Given the description of an element on the screen output the (x, y) to click on. 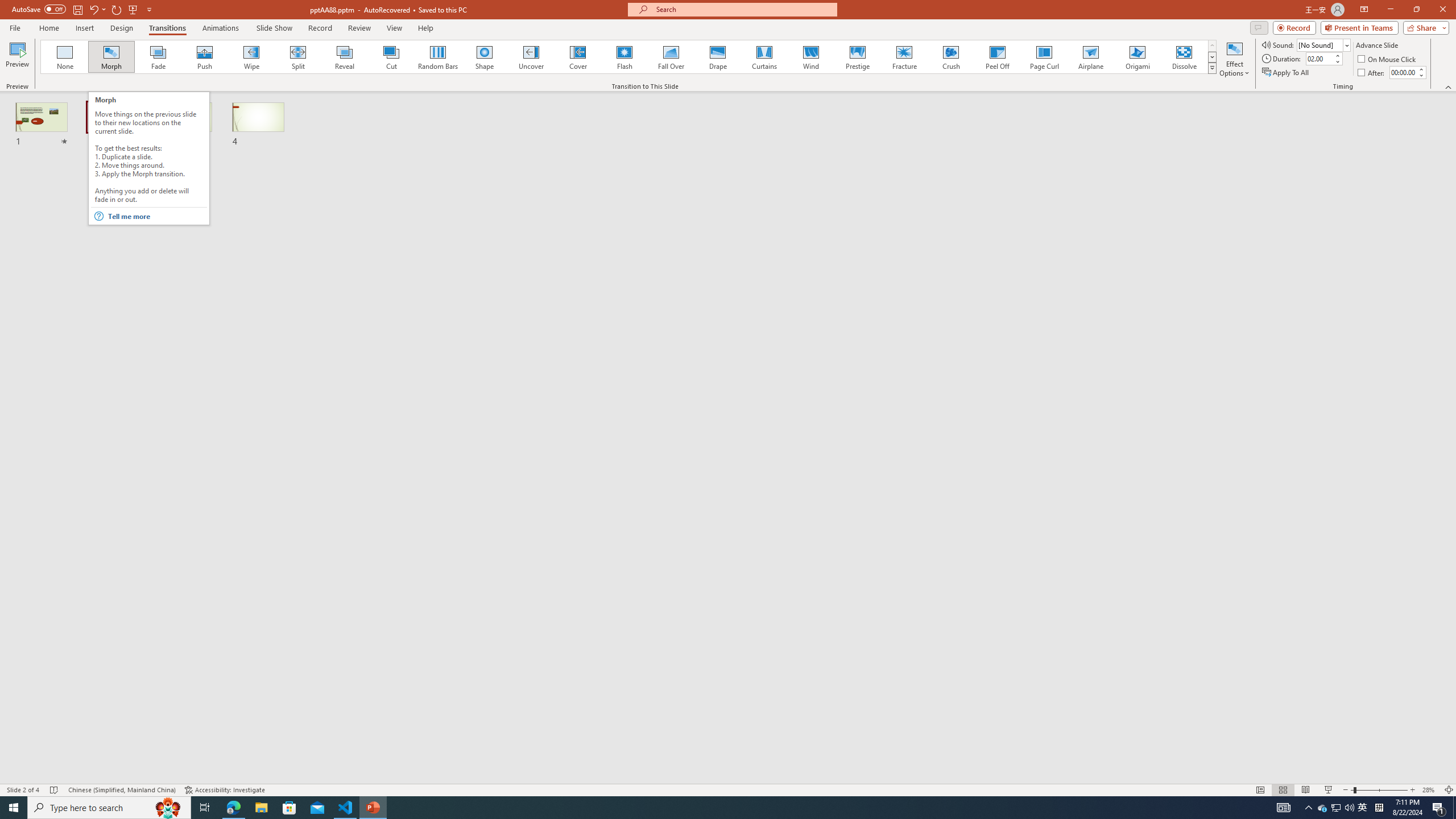
Transition Effects (1212, 67)
Drape (717, 56)
Origami (1136, 56)
AutomationID: AnimationTransitionGallery (628, 56)
Push (205, 56)
